Given the description of an element on the screen output the (x, y) to click on. 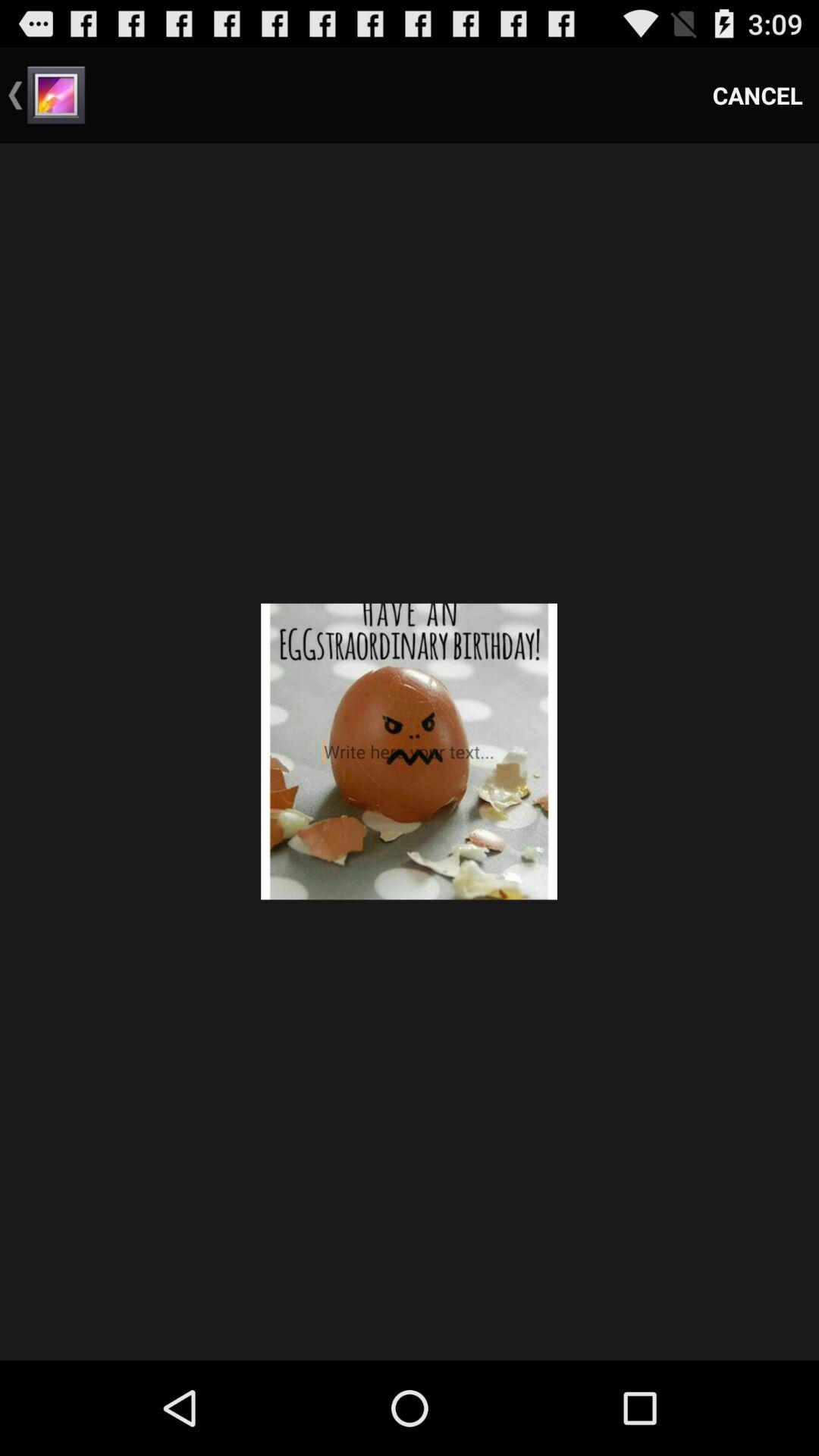
click the item at the top right corner (757, 95)
